Given the description of an element on the screen output the (x, y) to click on. 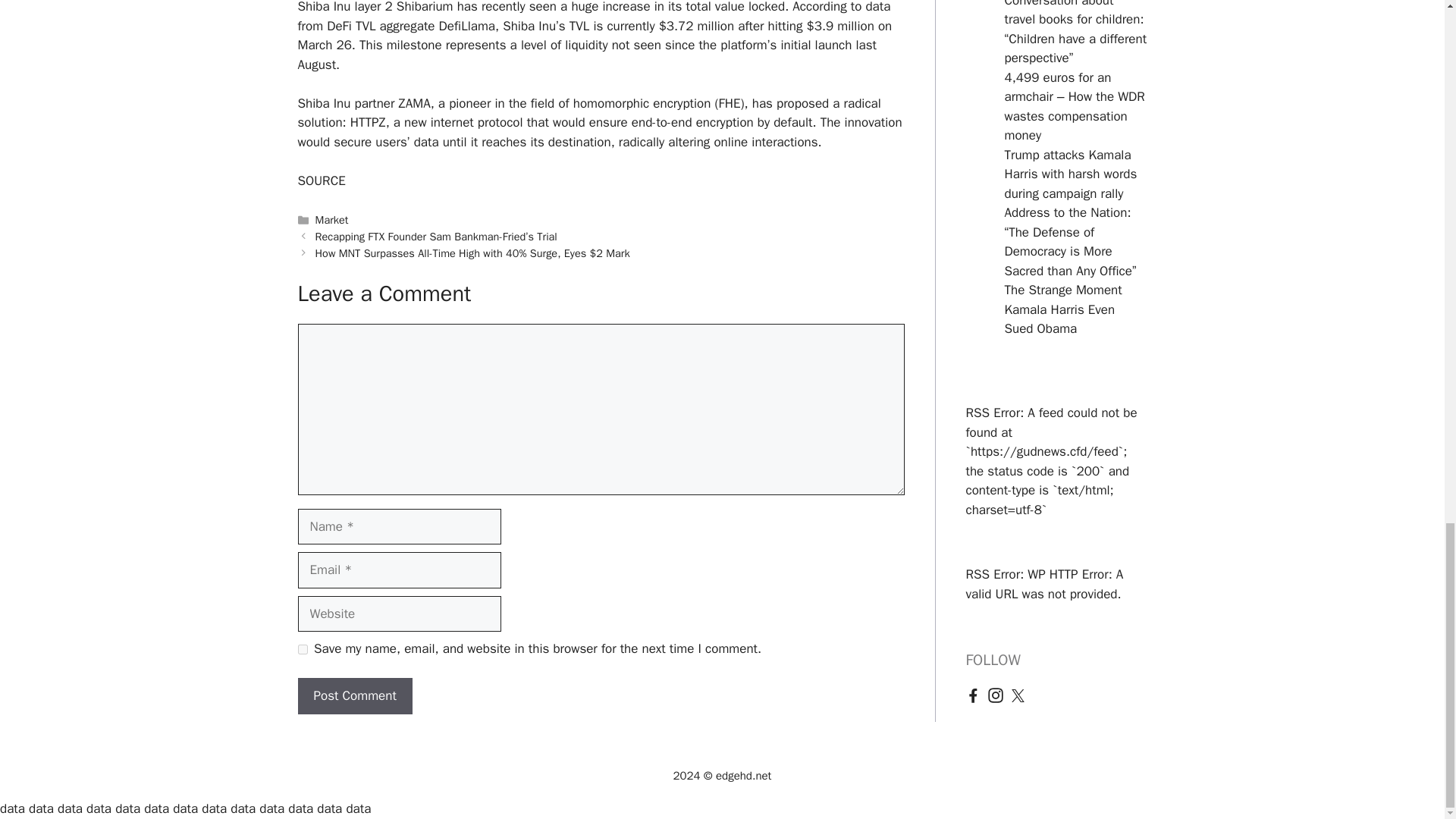
Market (332, 219)
Post Comment (354, 696)
SOURCE (321, 180)
Post Comment (354, 696)
yes (302, 649)
